Given the description of an element on the screen output the (x, y) to click on. 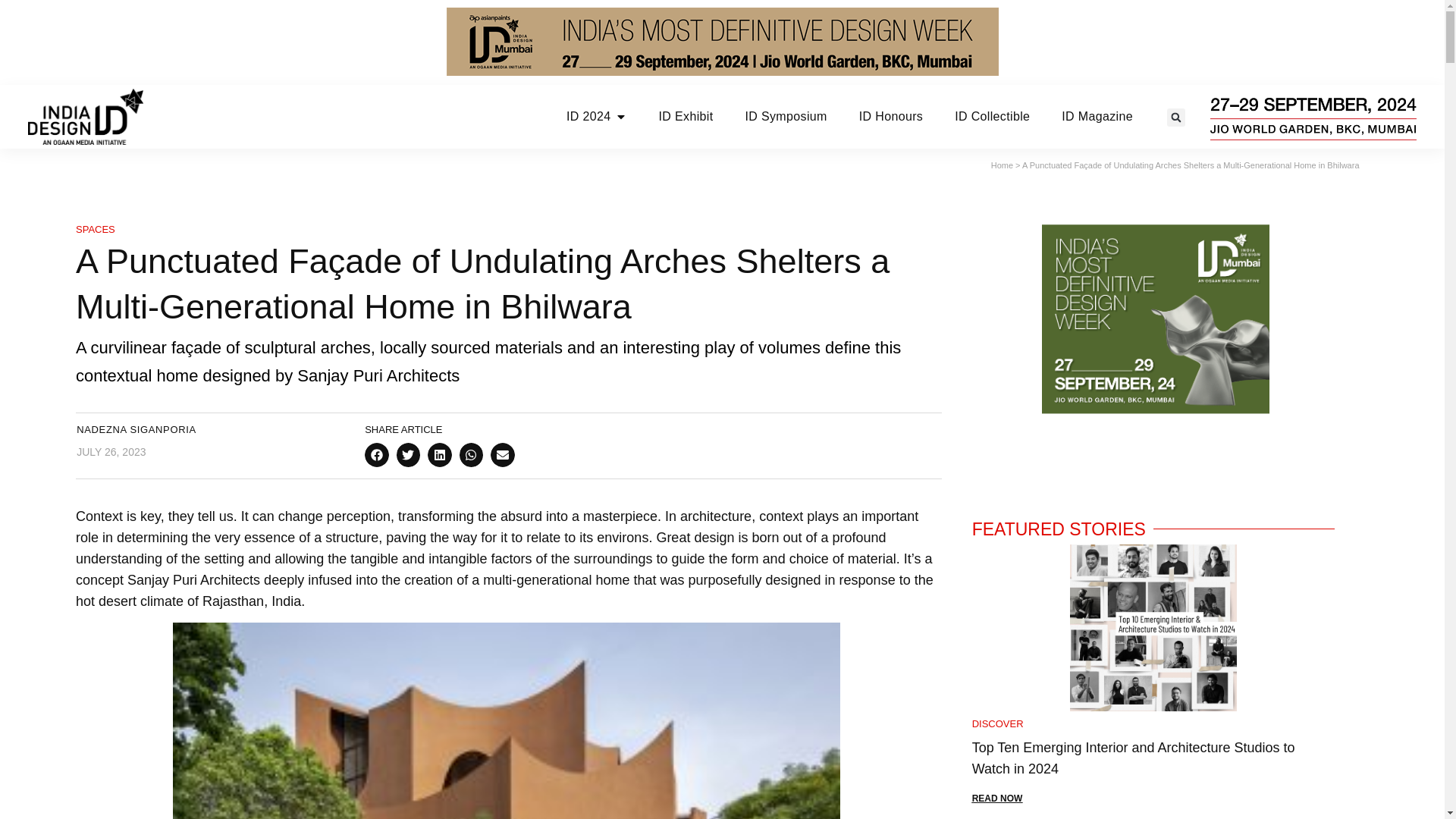
ID Exhibit (686, 116)
ID Magazine (1096, 116)
ID Honours (891, 116)
ID 2024 (588, 116)
SPACES (95, 229)
ID Collectible (992, 116)
NADEZNA SIGANPORIA (136, 429)
ID Symposium (785, 116)
